Given the description of an element on the screen output the (x, y) to click on. 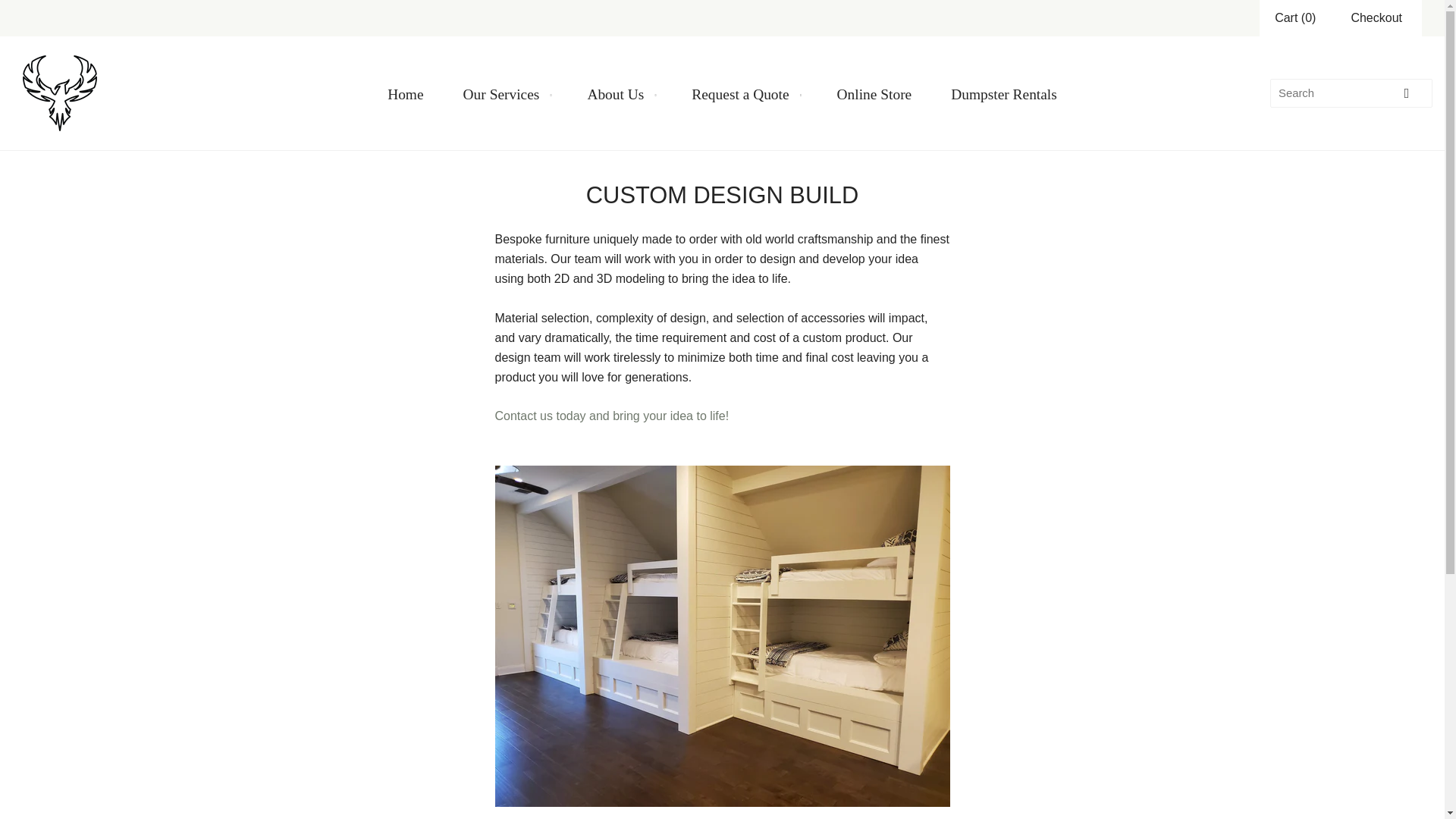
Our Services (505, 93)
Dumpster Rentals (1004, 93)
Checkout (1375, 17)
Design Build - RAQ (612, 415)
Online Store (873, 93)
Home (405, 93)
Contact us today and bring your idea to life! (612, 415)
About Us (619, 93)
Request a Quote (743, 93)
